Given the description of an element on the screen output the (x, y) to click on. 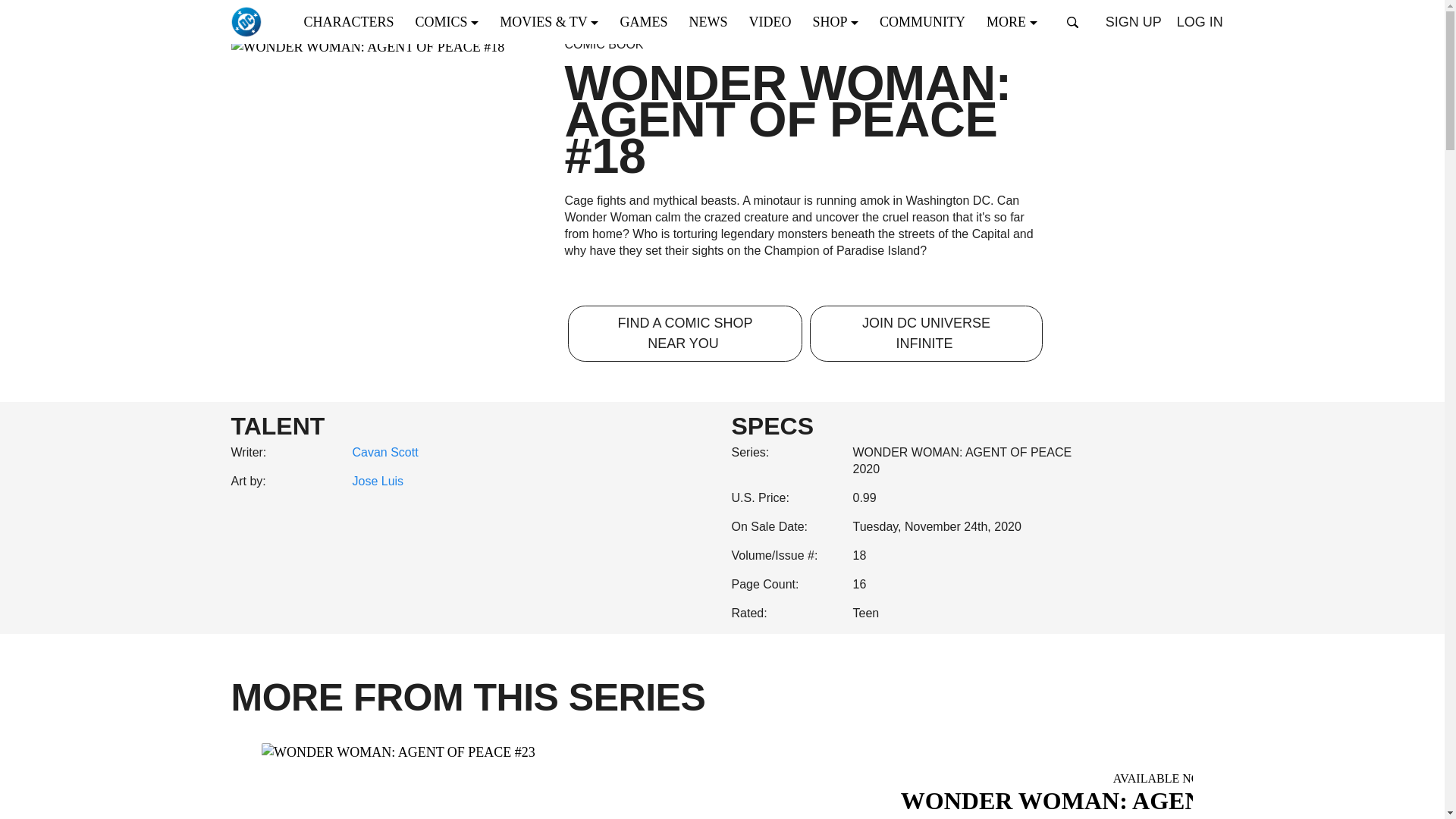
COMICS (452, 21)
CHARACTERS (353, 21)
Open search (1072, 22)
